Given the description of an element on the screen output the (x, y) to click on. 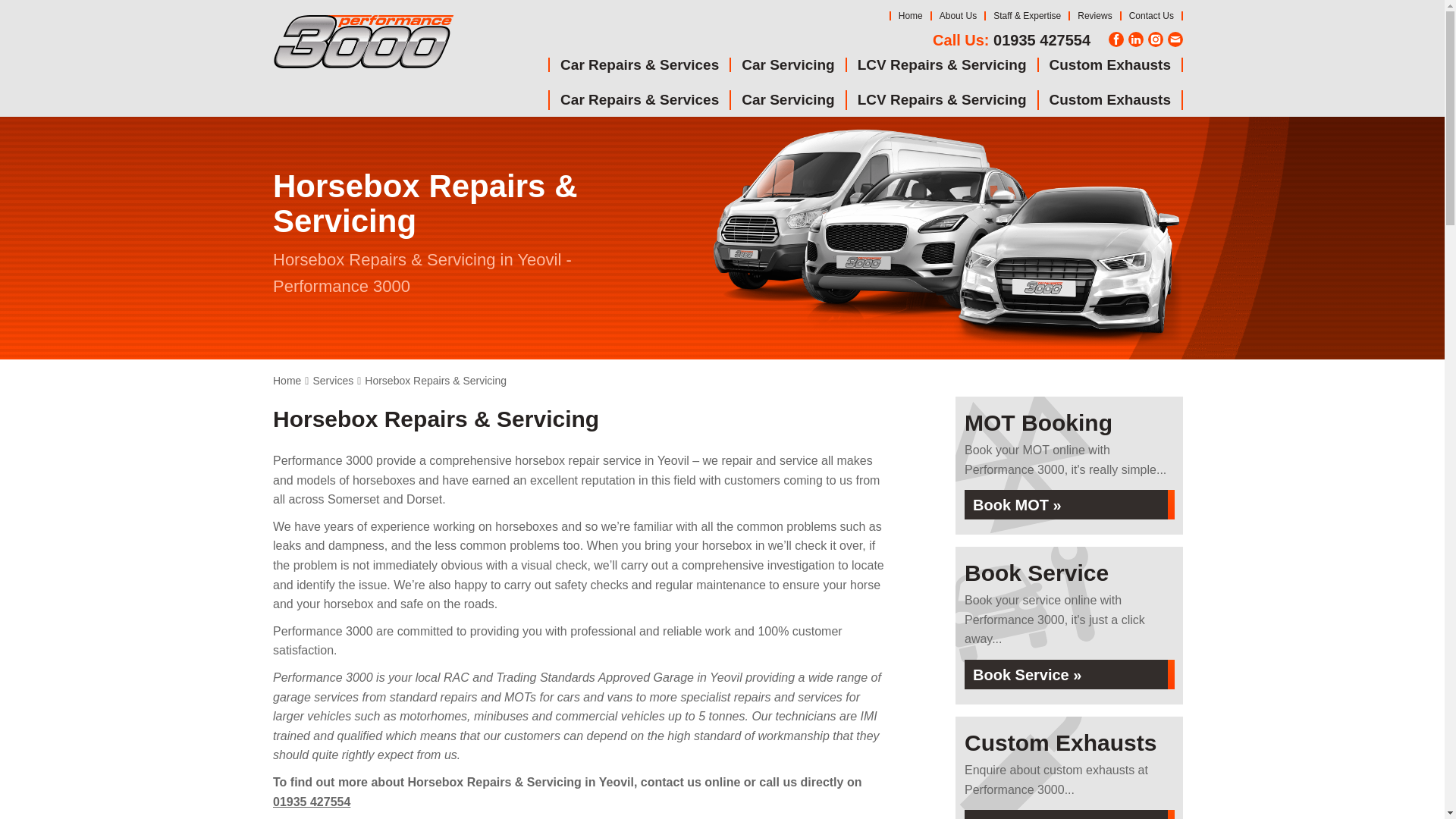
About Us (957, 15)
Home (910, 15)
Call Us: 01935 427554 (1011, 38)
Reviews (1094, 15)
Contact Us (1151, 15)
